Given the description of an element on the screen output the (x, y) to click on. 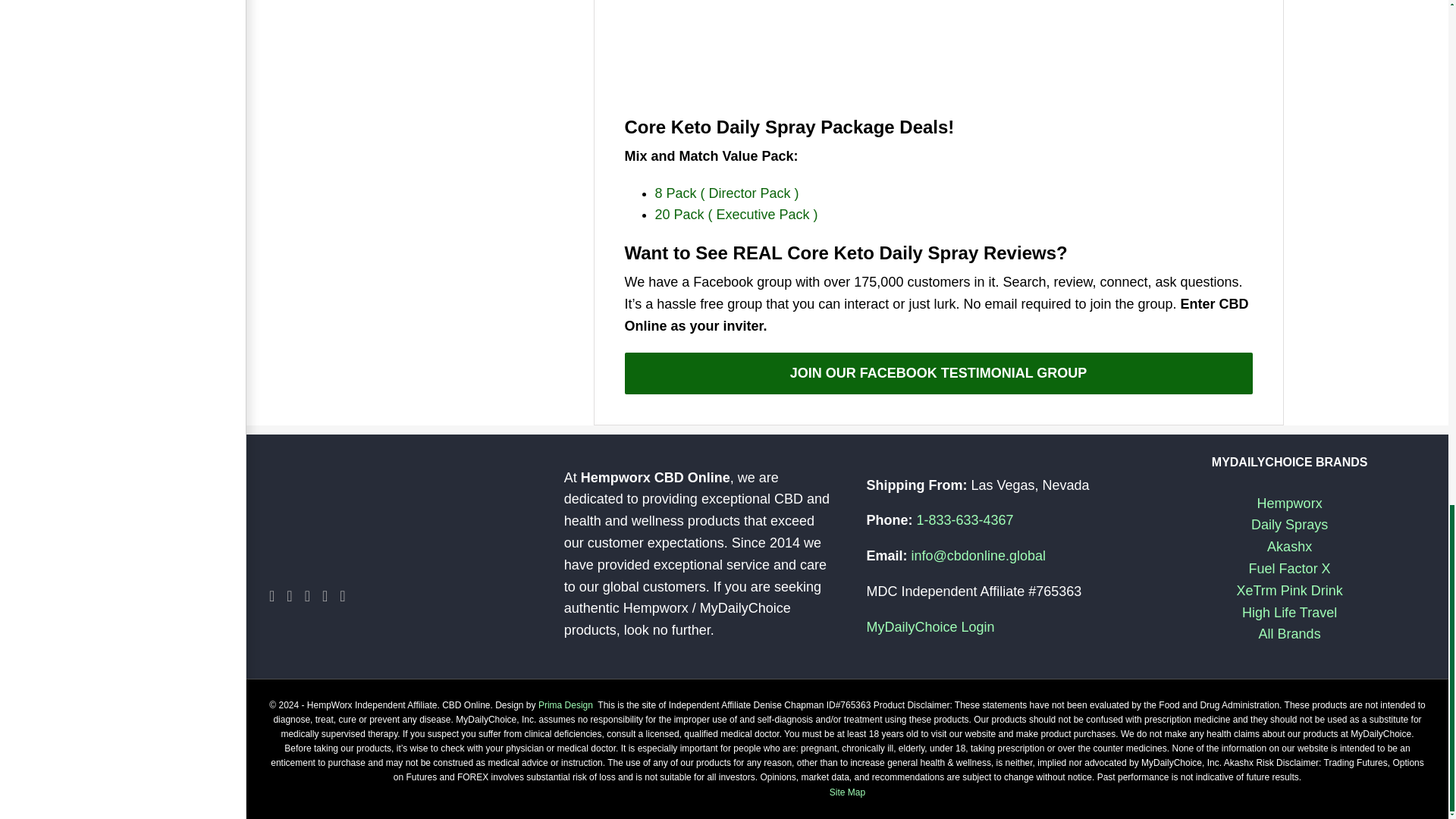
YouTube video player 1 (938, 54)
